Given the description of an element on the screen output the (x, y) to click on. 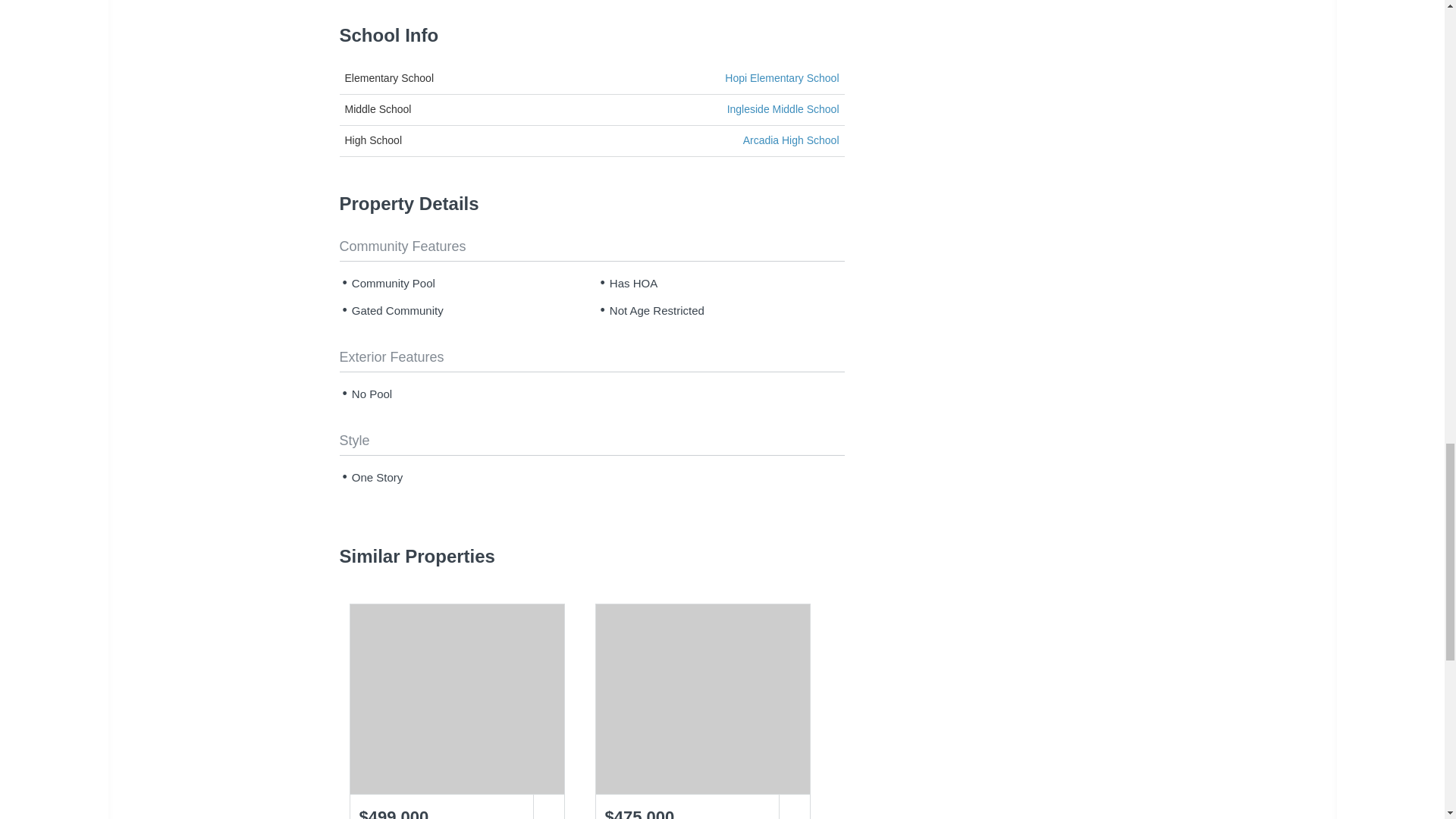
Ingleside Middle School (783, 109)
Arcadia High School (791, 140)
Hopi Elementary School (781, 78)
